Given the description of an element on the screen output the (x, y) to click on. 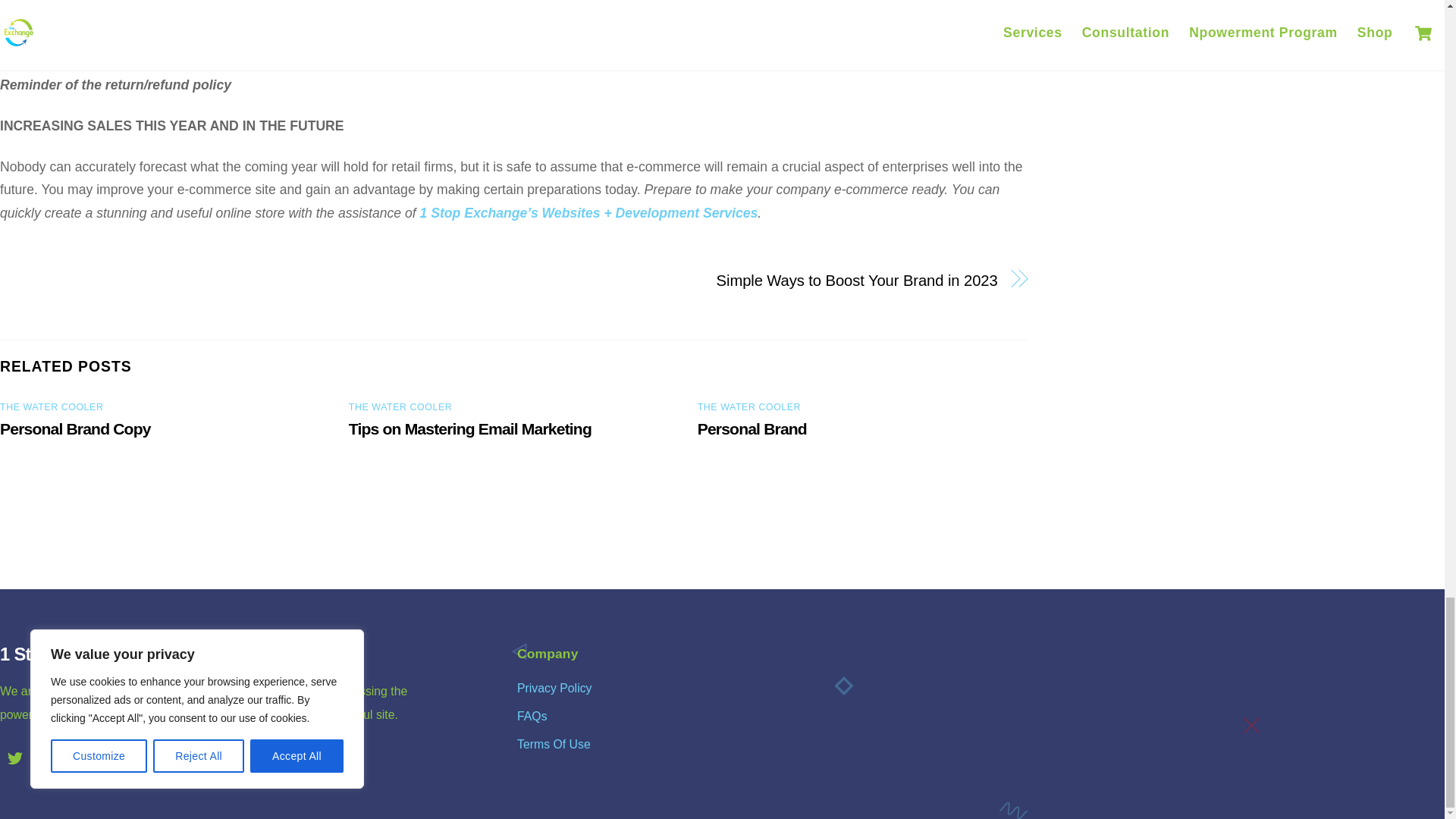
THE WATER COOLER (51, 407)
1 Stop Exchange (68, 652)
Simple Ways to Boost Your Brand in 2023 (770, 280)
THE WATER COOLER (748, 407)
Tips on Mastering Email Marketing (470, 428)
THE WATER COOLER (400, 407)
Personal Brand (751, 428)
Personal Brand Copy (75, 428)
